Given the description of an element on the screen output the (x, y) to click on. 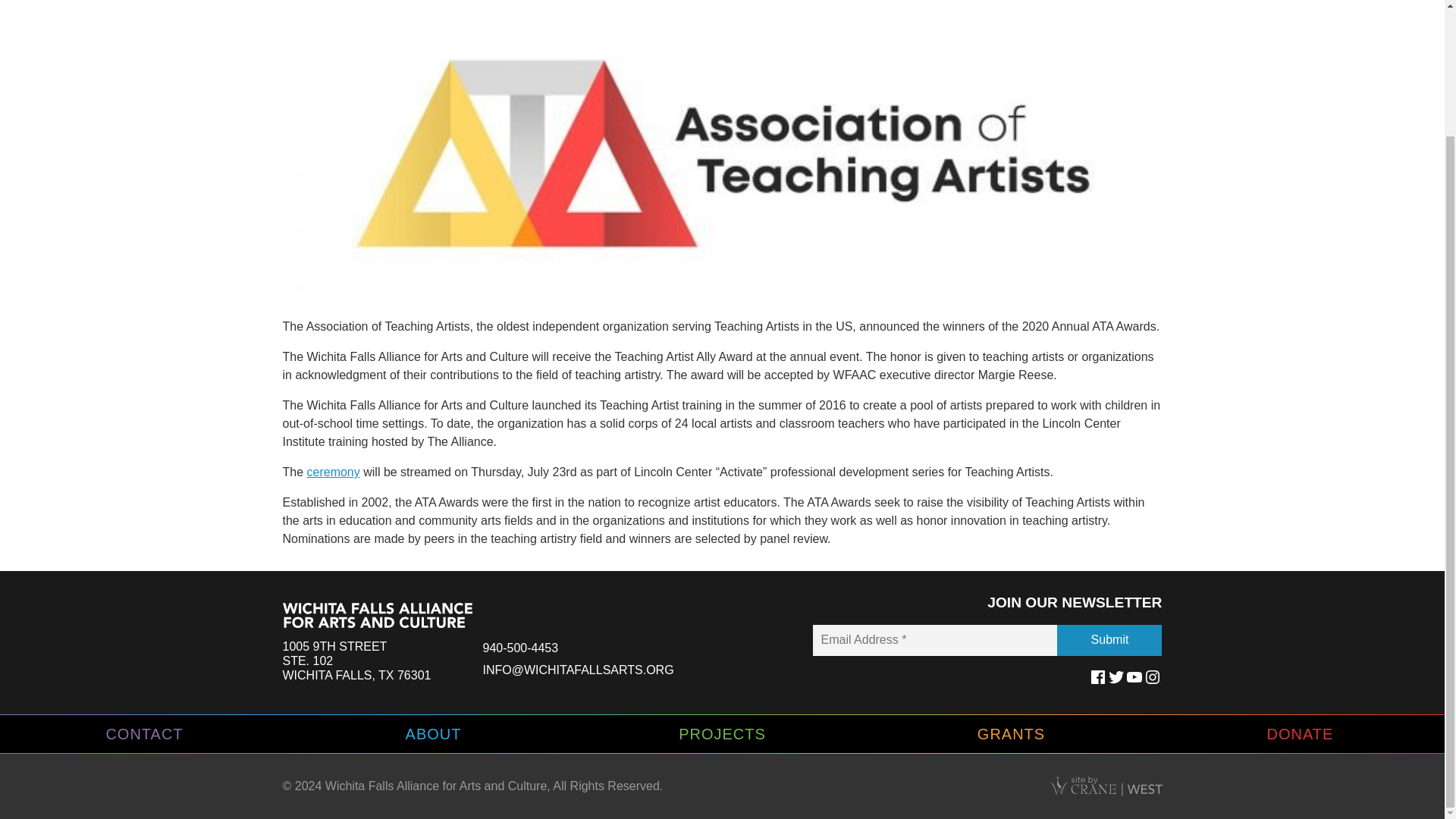
Submit (1109, 640)
940-500-4453 (356, 660)
Get Directions (519, 647)
ceremony (356, 660)
Submit (333, 472)
